Given the description of an element on the screen output the (x, y) to click on. 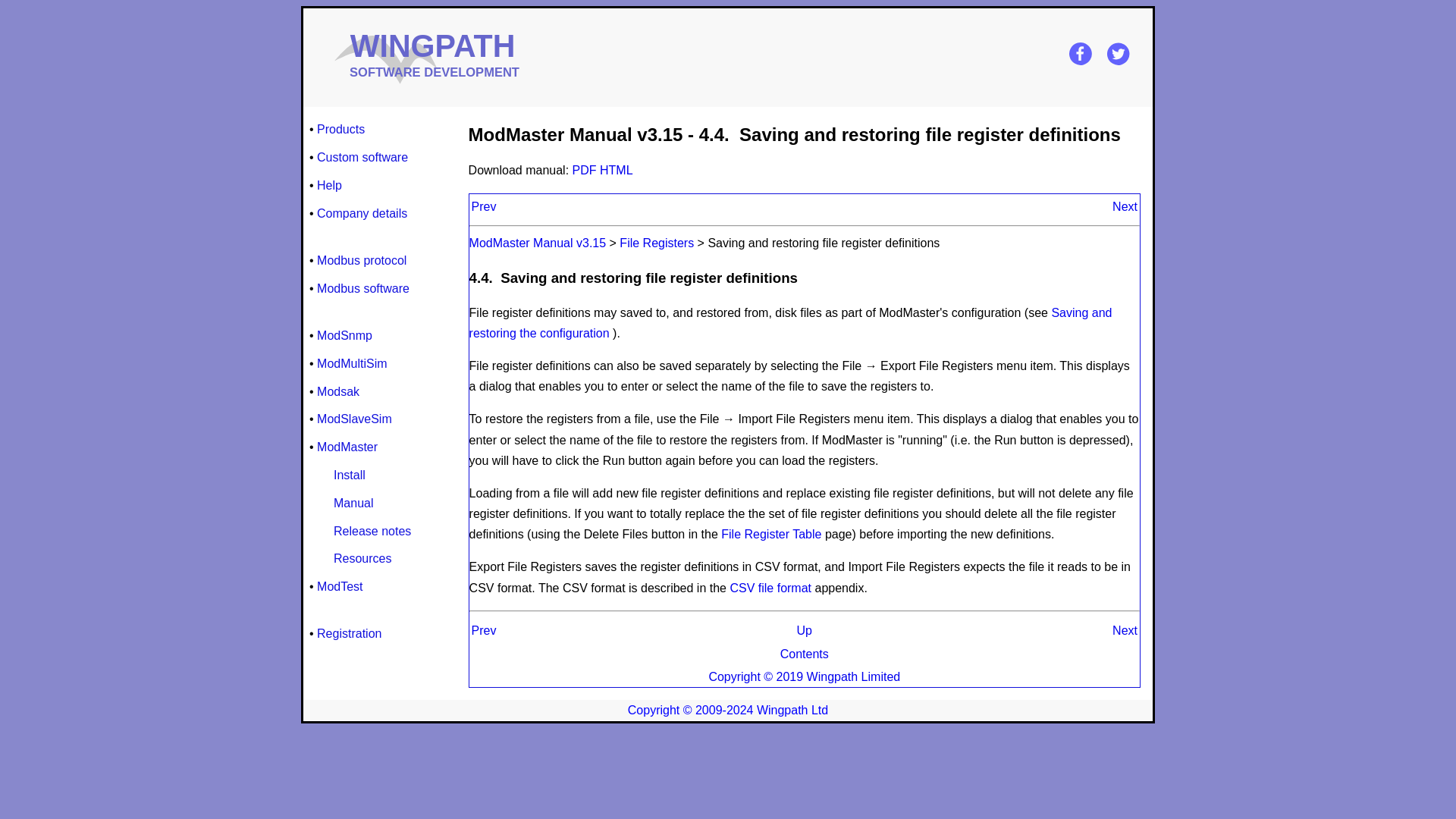
Contents (804, 653)
Software products (341, 128)
Products (341, 128)
ModMaster (347, 446)
Request or transfer a registration key (349, 633)
Resources (362, 557)
Modbus software (363, 288)
modmaster.zip (616, 169)
Release notes (371, 530)
Next (1124, 630)
modmaster.pdf (585, 169)
Modsak (338, 391)
HTML (616, 169)
Custom software (362, 157)
CSV file format (769, 587)
